Given the description of an element on the screen output the (x, y) to click on. 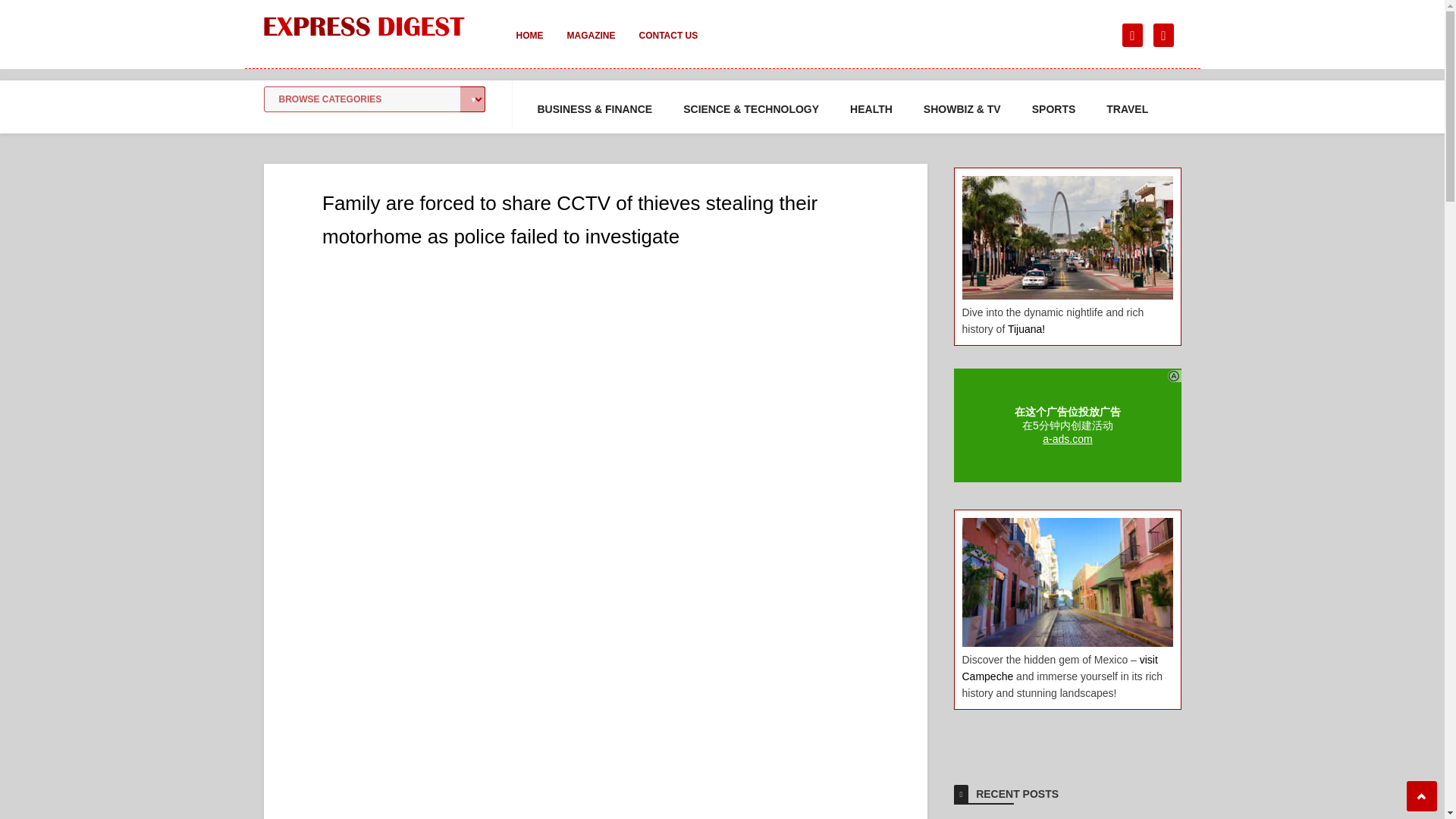
CONTACT US (667, 45)
MAGAZINE (590, 45)
TRAVEL (1127, 109)
HEALTH (871, 109)
Tijuana! (1026, 328)
SPORTS (1053, 109)
visit Campeche (1058, 667)
